Given the description of an element on the screen output the (x, y) to click on. 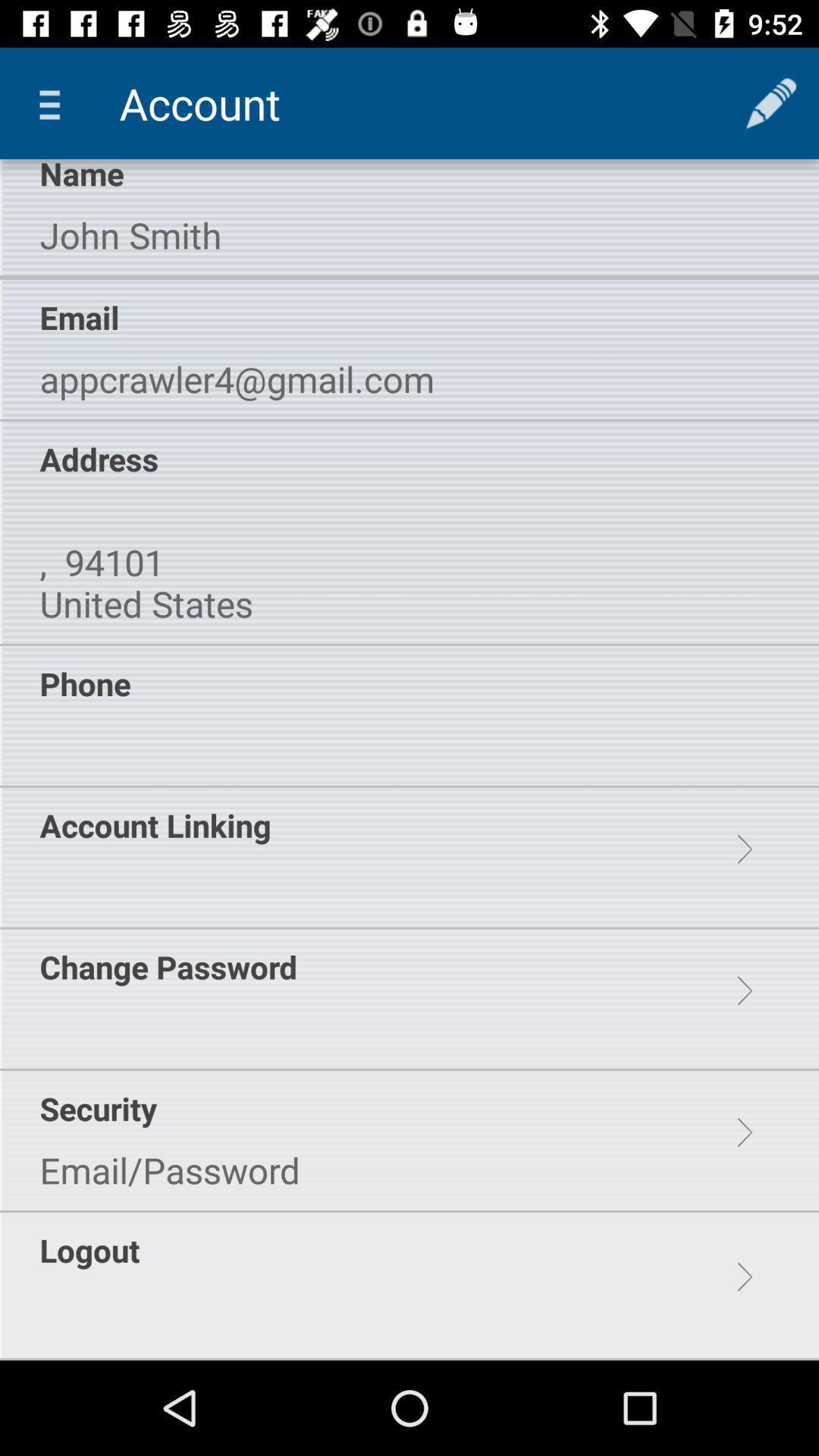
jump to email/password icon (169, 1170)
